Given the description of an element on the screen output the (x, y) to click on. 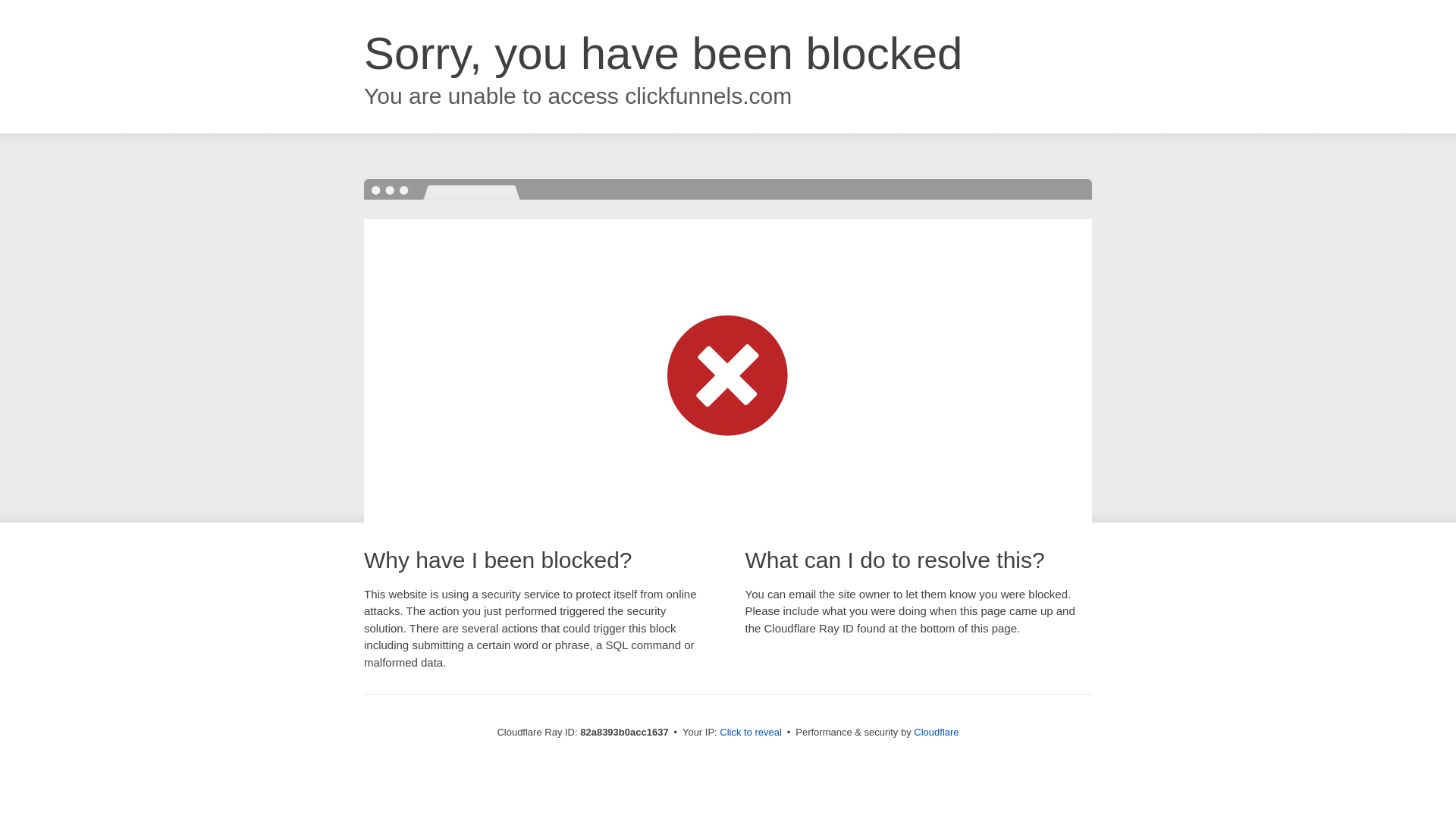
Cloudflare Element type: text (935, 731)
Click to reveal Element type: text (750, 732)
